Given the description of an element on the screen output the (x, y) to click on. 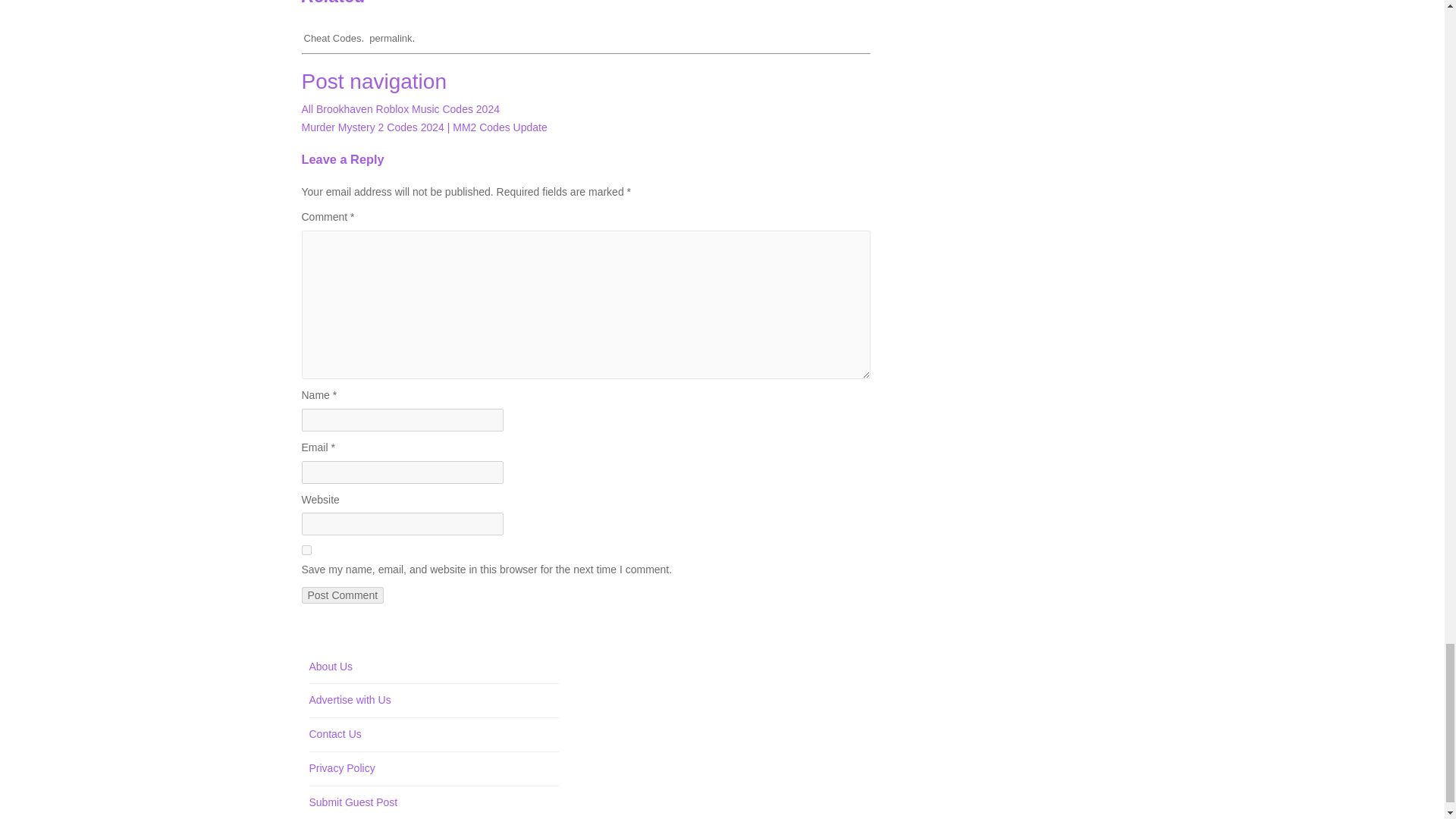
Post Comment (342, 595)
Post Comment (342, 595)
yes (306, 550)
About Us (330, 666)
All Brookhaven Roblox Music Codes 2024 (400, 109)
Cheat Codes (331, 38)
permalink (390, 38)
